Given the description of an element on the screen output the (x, y) to click on. 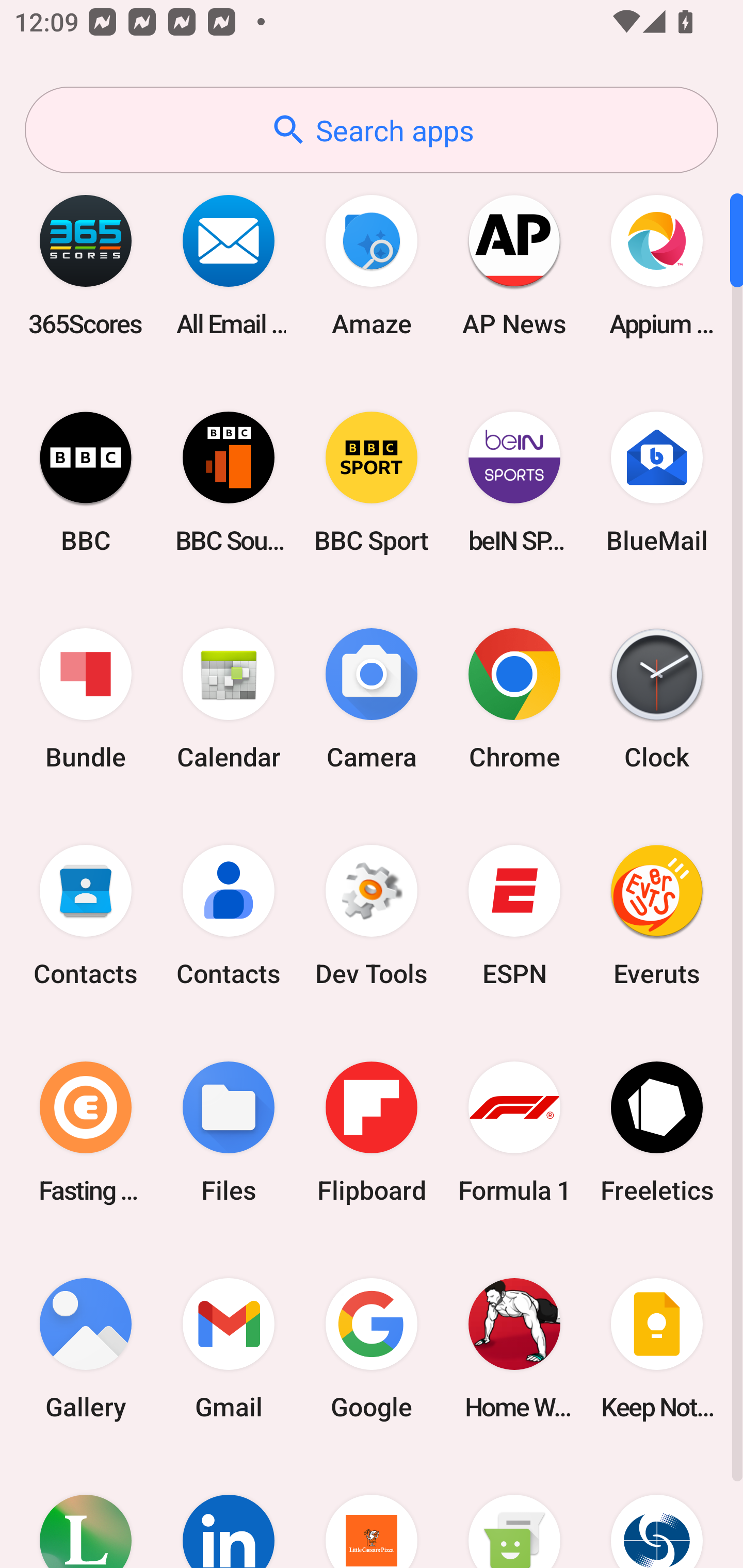
  Search apps (371, 130)
365Scores (85, 264)
All Email Connect (228, 264)
Amaze (371, 264)
AP News (514, 264)
Appium Settings (656, 264)
BBC (85, 482)
BBC Sounds (228, 482)
BBC Sport (371, 482)
beIN SPORTS (514, 482)
BlueMail (656, 482)
Bundle (85, 699)
Calendar (228, 699)
Camera (371, 699)
Chrome (514, 699)
Clock (656, 699)
Contacts (85, 915)
Contacts (228, 915)
Dev Tools (371, 915)
ESPN (514, 915)
Everuts (656, 915)
Fasting Coach (85, 1131)
Files (228, 1131)
Flipboard (371, 1131)
Formula 1 (514, 1131)
Freeletics (656, 1131)
Gallery (85, 1348)
Gmail (228, 1348)
Google (371, 1348)
Home Workout (514, 1348)
Keep Notes (656, 1348)
Lifesum (85, 1512)
LinkedIn (228, 1512)
Little Caesars Pizza (371, 1512)
Messaging (514, 1512)
MyObservatory (656, 1512)
